Given the description of an element on the screen output the (x, y) to click on. 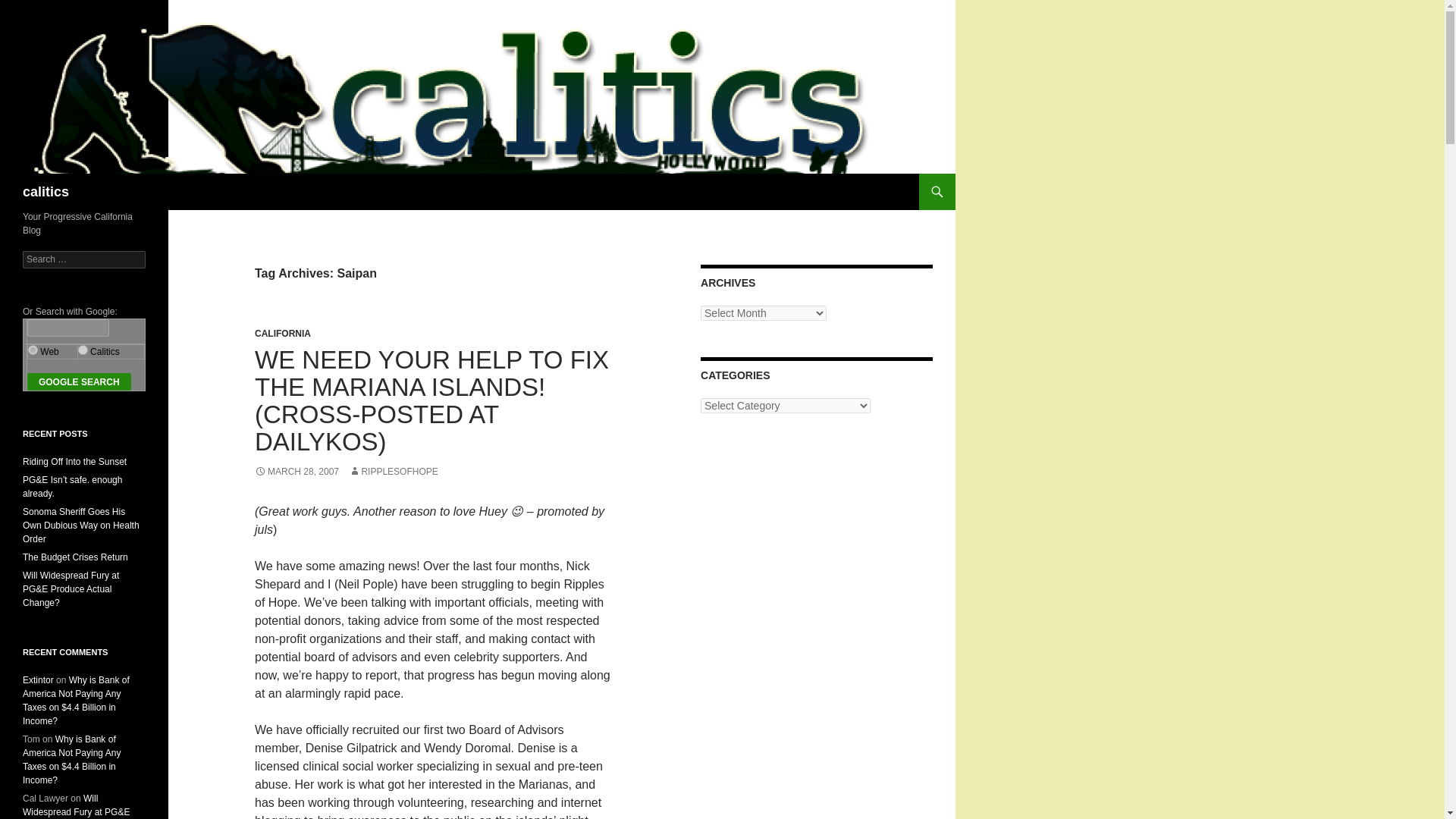
Calitics.com (82, 349)
CALIFORNIA (282, 333)
RIPPLESOFHOPE (393, 471)
MARCH 28, 2007 (296, 471)
Google Search (79, 381)
calitics (45, 191)
